Given the description of an element on the screen output the (x, y) to click on. 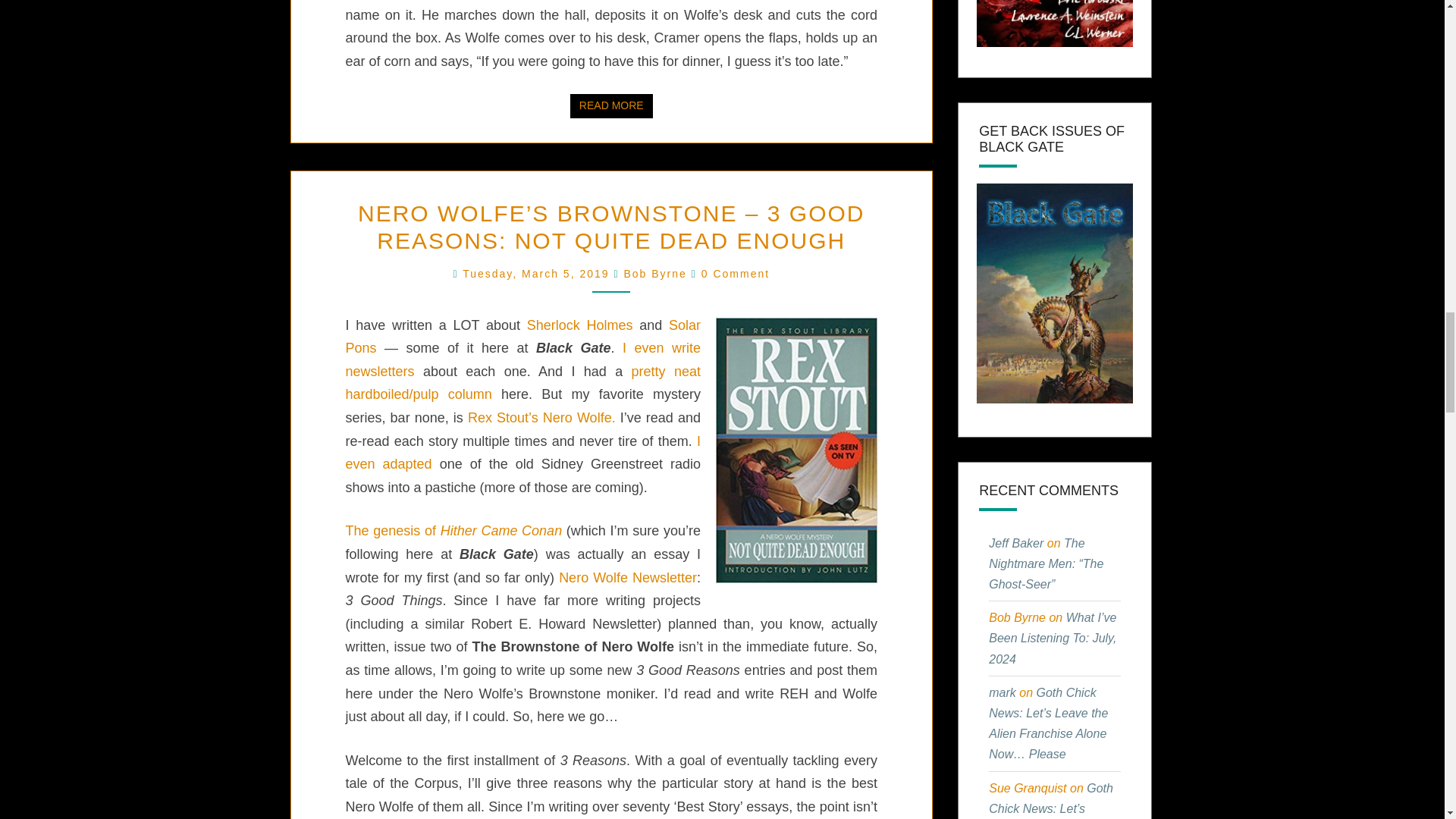
Nero Wolfe Newsletter (628, 577)
Sherlock Holmes (583, 324)
I even write newsletters (523, 359)
Solar Pons (523, 336)
I even adapted (523, 453)
0 Comment (735, 273)
View all posts by Bob Byrne (654, 273)
Bob Byrne (611, 105)
3:16 pm (654, 273)
Tuesday, March 5, 2019 (537, 273)
The genesis of Hither Came Conan (537, 273)
